Given the description of an element on the screen output the (x, y) to click on. 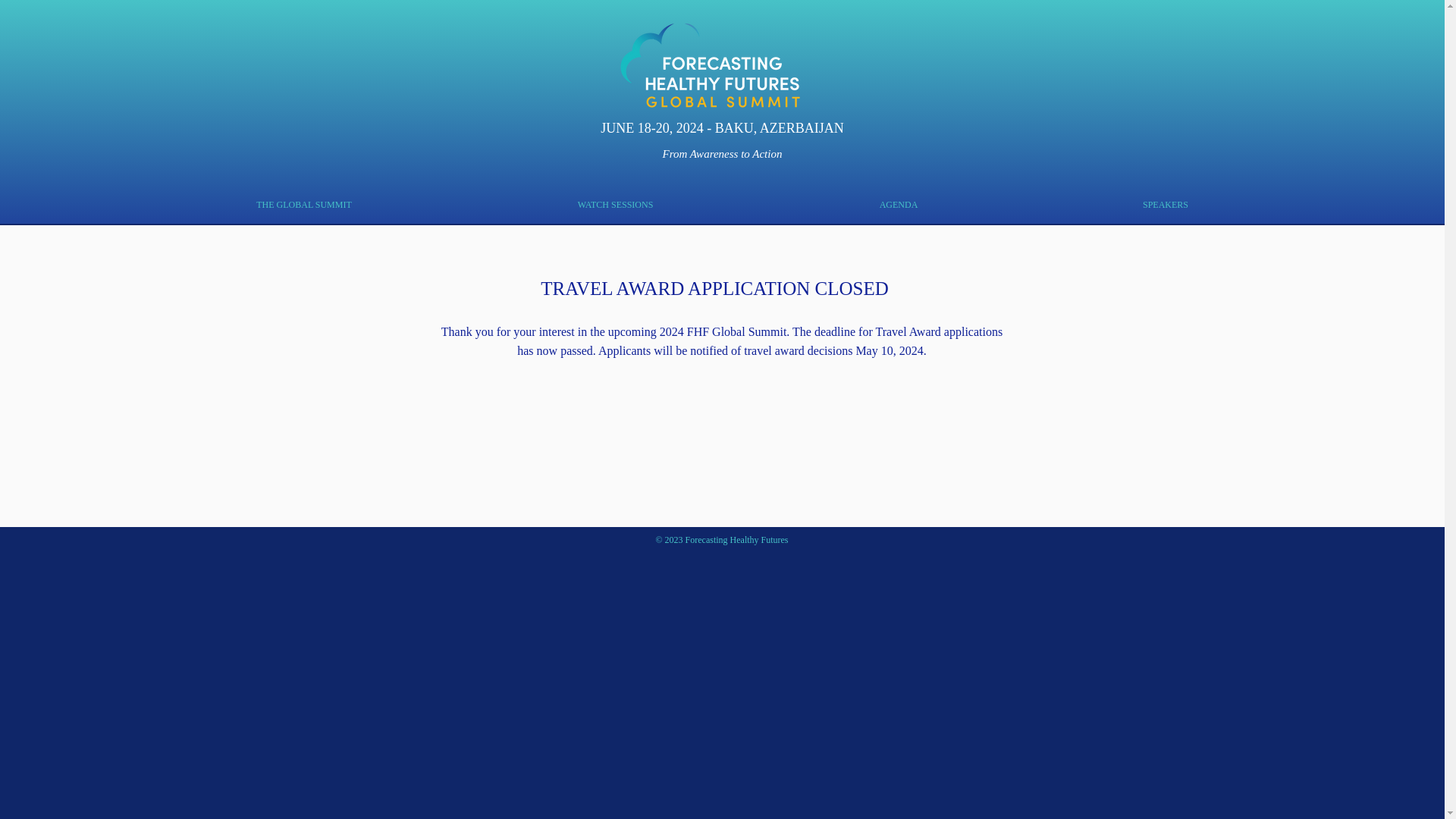
AGENDA (898, 204)
THE GLOBAL SUMMIT (304, 204)
SPEAKERS (1165, 204)
WATCH SESSIONS (615, 204)
